Given the description of an element on the screen output the (x, y) to click on. 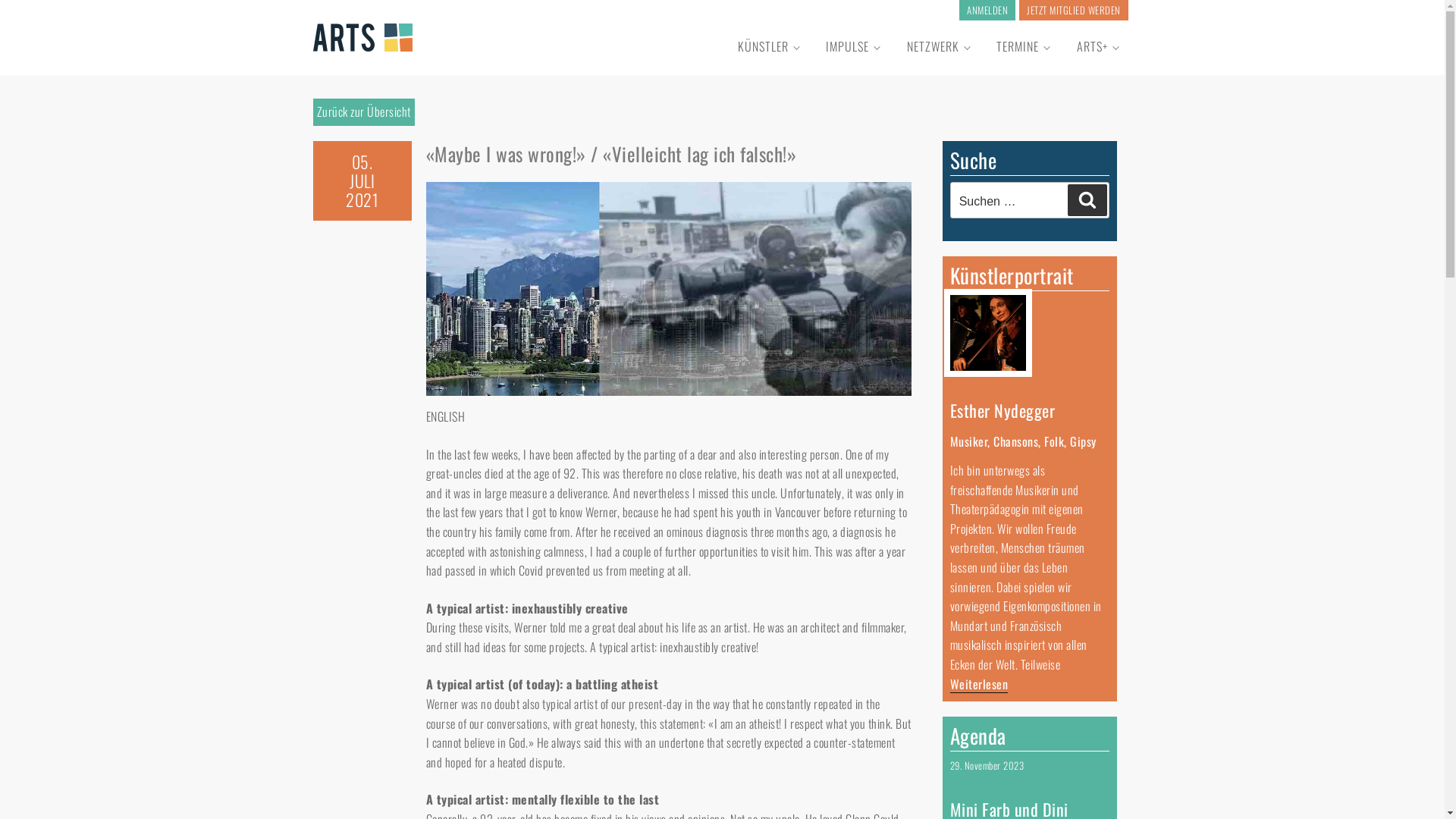
TERMINE Element type: text (1022, 46)
NETZWERK Element type: text (938, 46)
ANMELDEN Element type: text (987, 10)
Weiterlesen Element type: text (978, 683)
JETZT MITGLIED WERDEN Element type: text (1073, 10)
IMPULSE Element type: text (852, 46)
ARTS+ Element type: text (1097, 46)
Suchen Element type: text (1087, 200)
Esther Nydegger
Musiker, Chansons, Folk, Gipsy Element type: text (1028, 372)
